Given the description of an element on the screen output the (x, y) to click on. 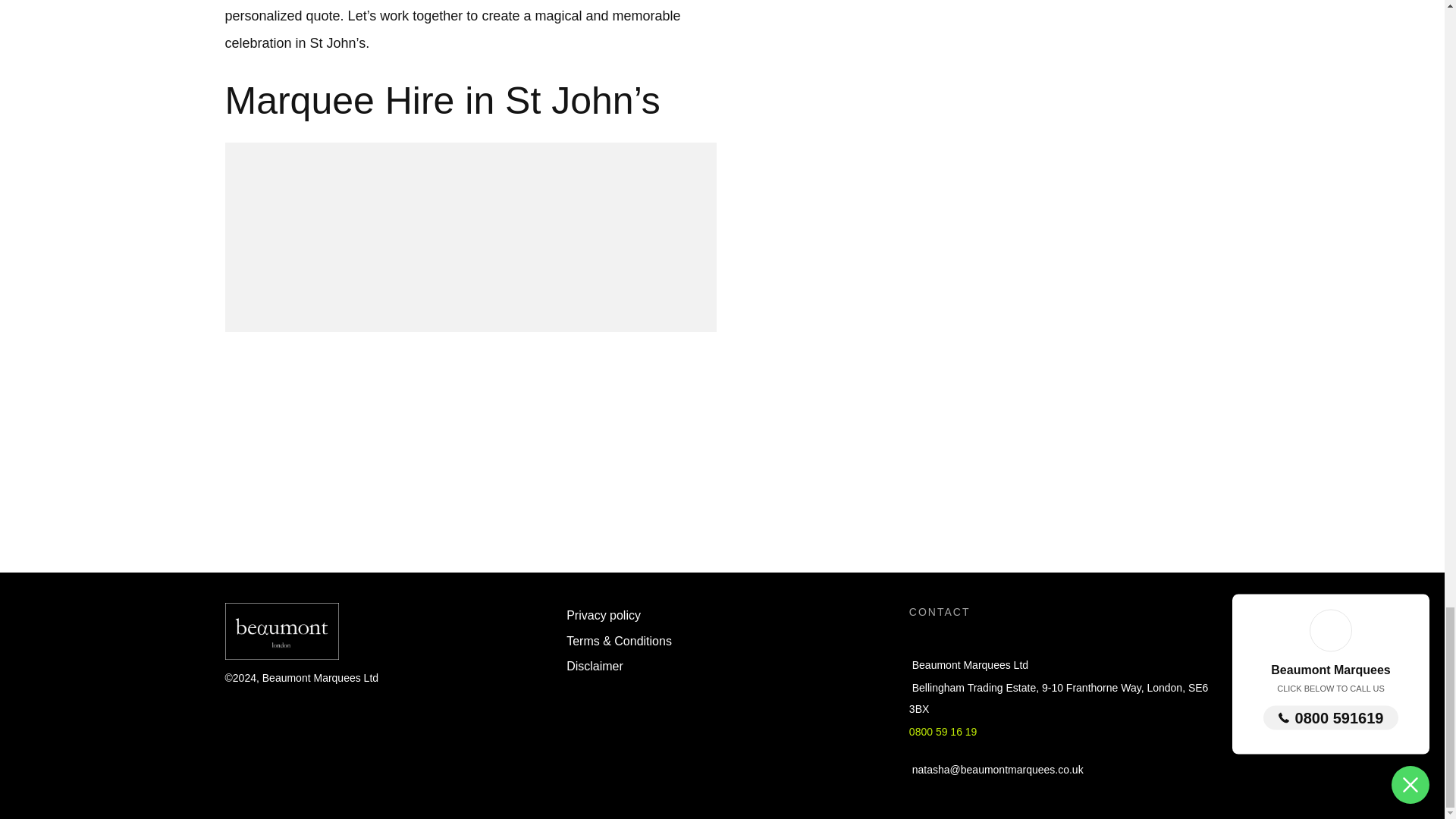
Privacy policy (603, 615)
Google Map (722, 464)
Disclaimer (594, 666)
0800 59 16 19 (942, 731)
